Given the description of an element on the screen output the (x, y) to click on. 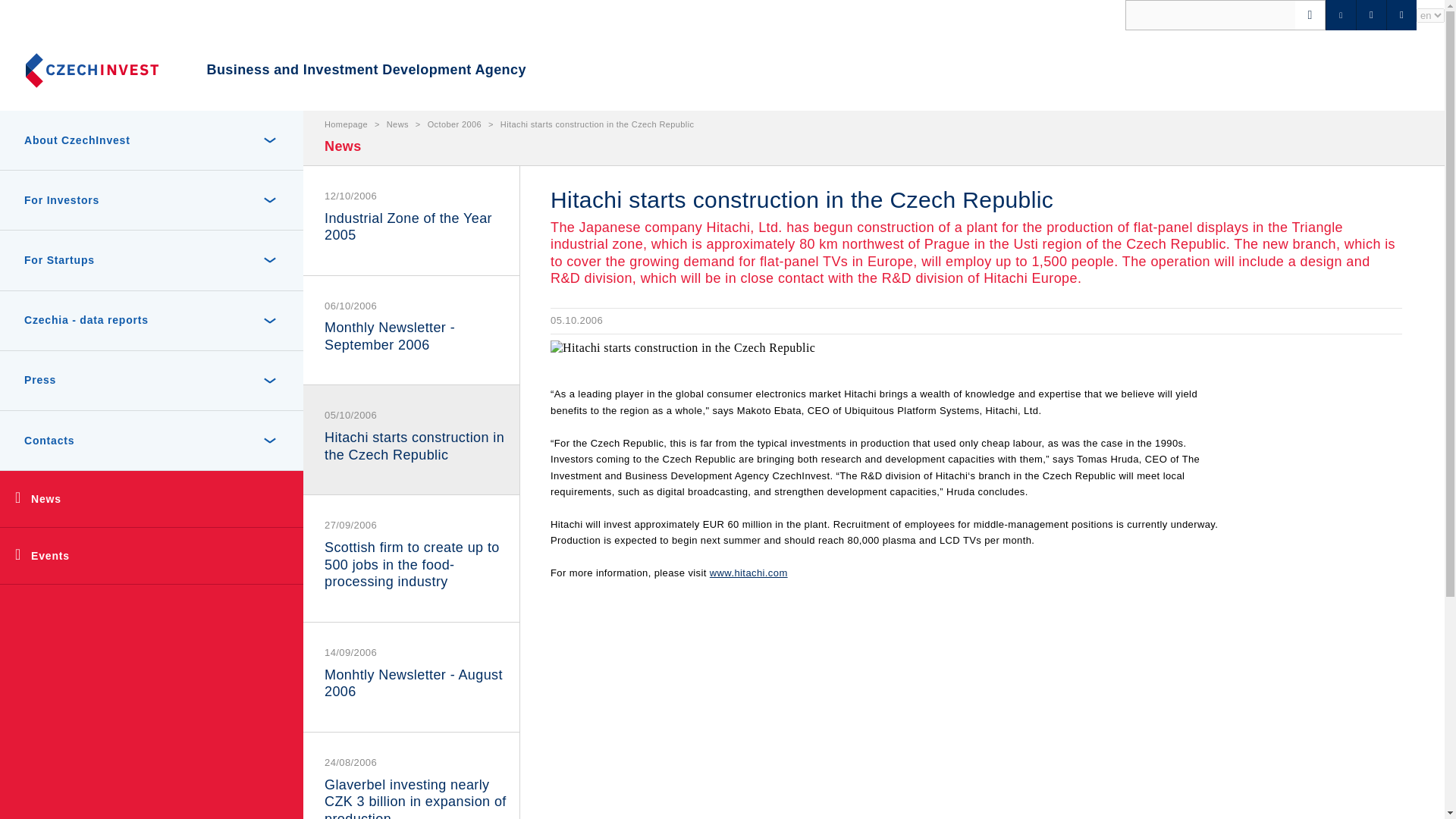
Search (39, 18)
